Given the description of an element on the screen output the (x, y) to click on. 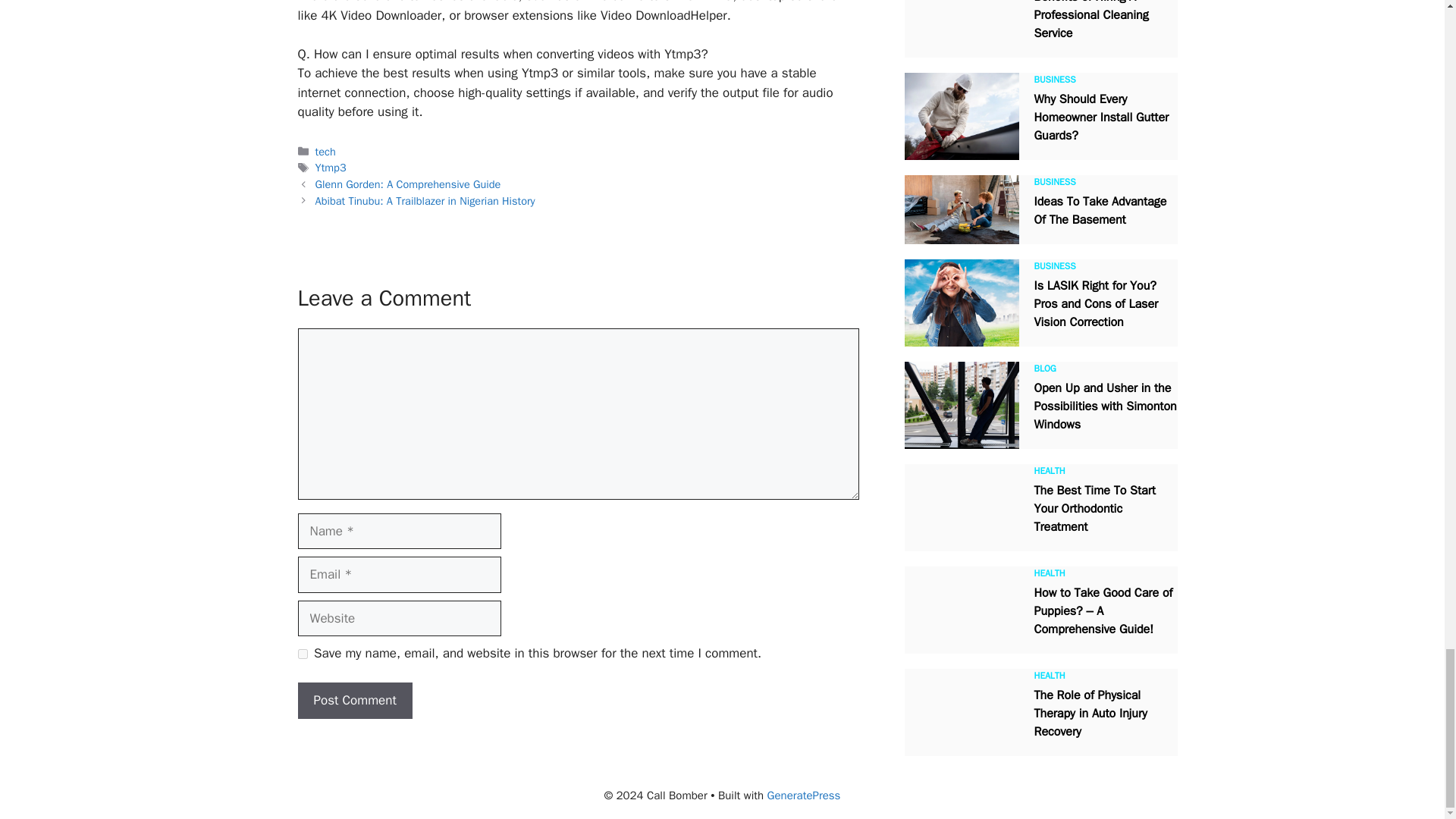
Post Comment (354, 700)
Glenn Gorden: A Comprehensive Guide (407, 183)
Abibat Tinubu: A Trailblazer in Nigerian History (425, 201)
Ytmp3 (330, 167)
Post Comment (354, 700)
yes (302, 654)
tech (325, 151)
